Given the description of an element on the screen output the (x, y) to click on. 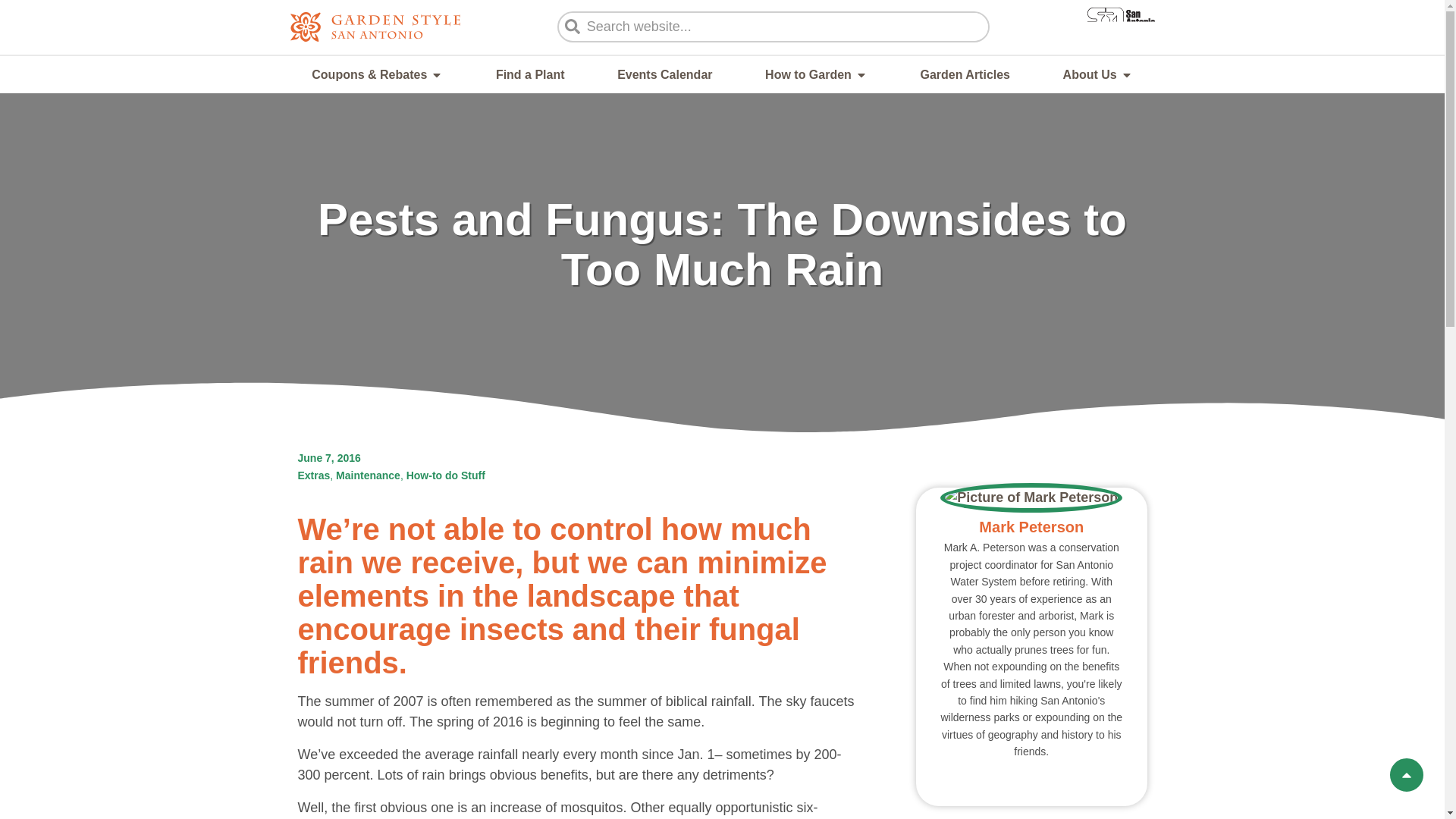
Find a Plant (530, 74)
About Us (1089, 74)
Garden Articles (965, 74)
Events Calendar (664, 74)
back to top (1406, 774)
How to Garden (808, 74)
